Given the description of an element on the screen output the (x, y) to click on. 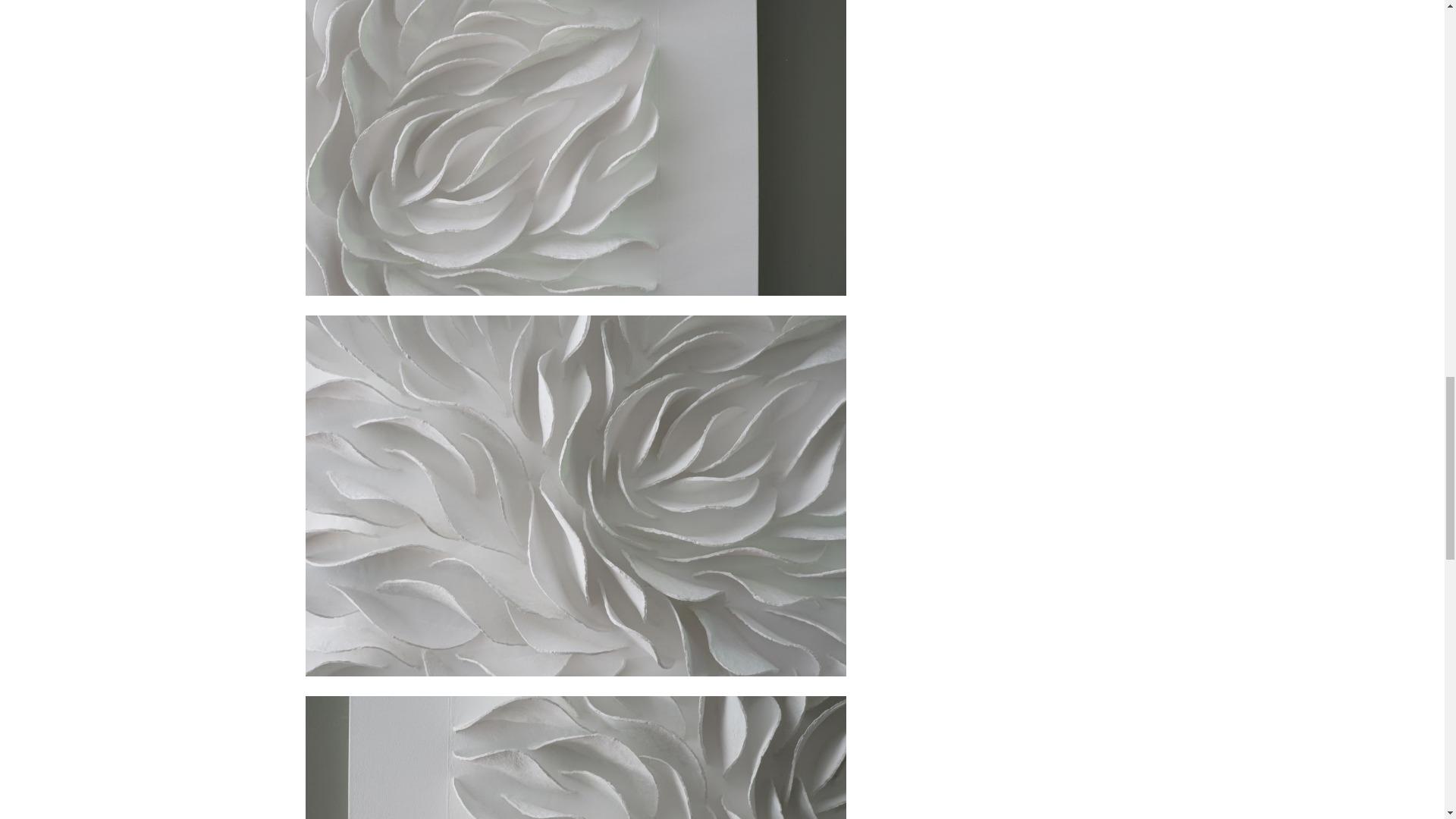
1-2021 UK (574, 749)
